Given the description of an element on the screen output the (x, y) to click on. 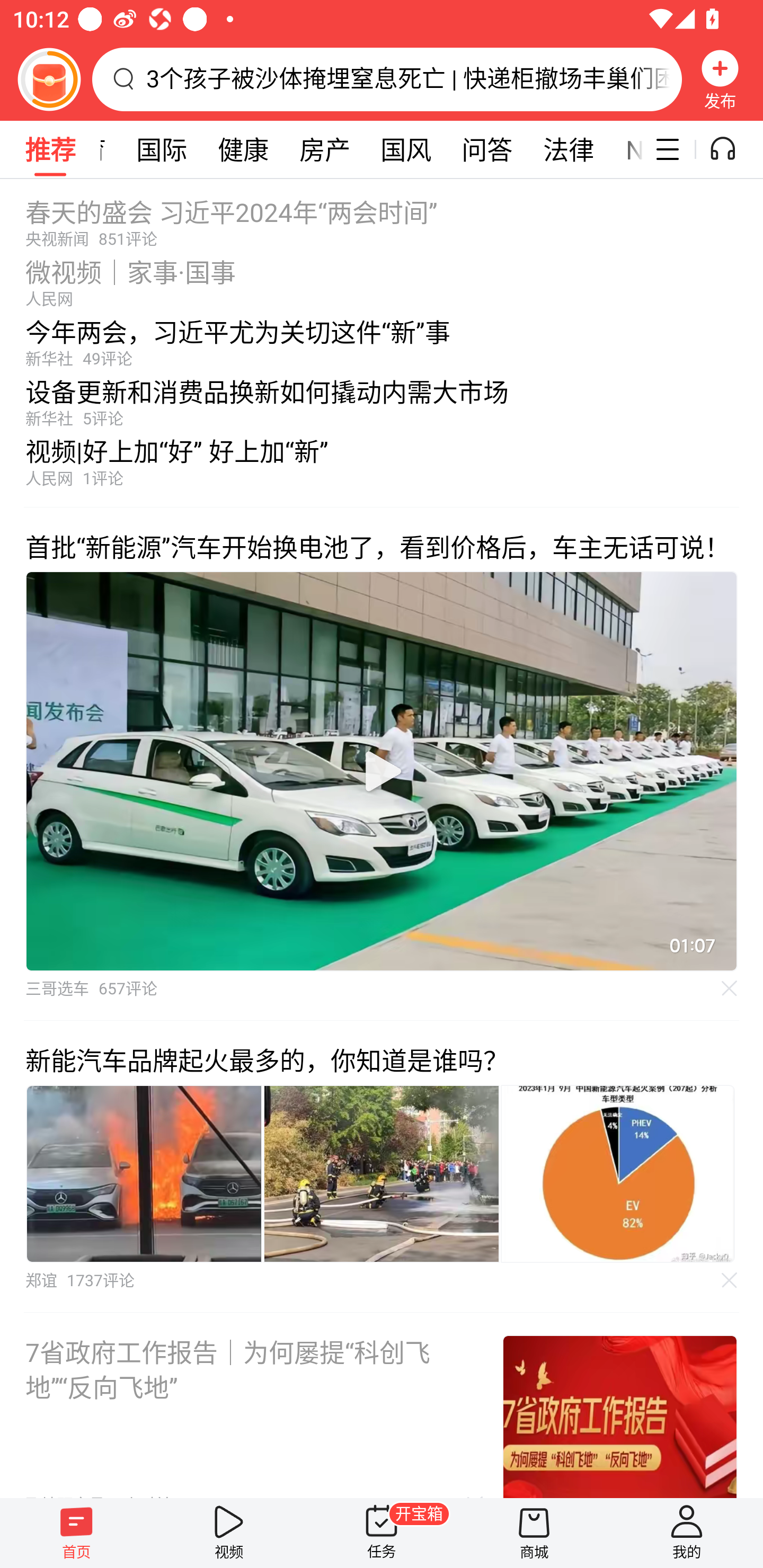
阅读赚金币 (48, 79)
发布 发布，按钮 (720, 78)
推荐 (49, 149)
国际 (161, 149)
健康 (243, 149)
房产 (324, 149)
国风 (405, 149)
问答 (486, 149)
法律 (568, 149)
听一听开关 (732, 149)
微视频｜家事·国事人民网 视频 微视频｜家事·国事 人民网 (381, 277)
视频|好上加“好” 好上加“新”人民网1评论 文章 视频|好上加“好” 好上加“新” 人民网1评论 (381, 467)
播放视频 视频播放器，双击屏幕打开播放控制 (381, 771)
播放视频 (381, 771)
不感兴趣 (729, 987)
内容图片 (143, 1174)
内容图片 (381, 1174)
内容图片 (617, 1174)
不感兴趣 (729, 1279)
首页 (76, 1532)
视频 (228, 1532)
任务 开宝箱 (381, 1532)
商城 (533, 1532)
我的 (686, 1532)
